Given the description of an element on the screen output the (x, y) to click on. 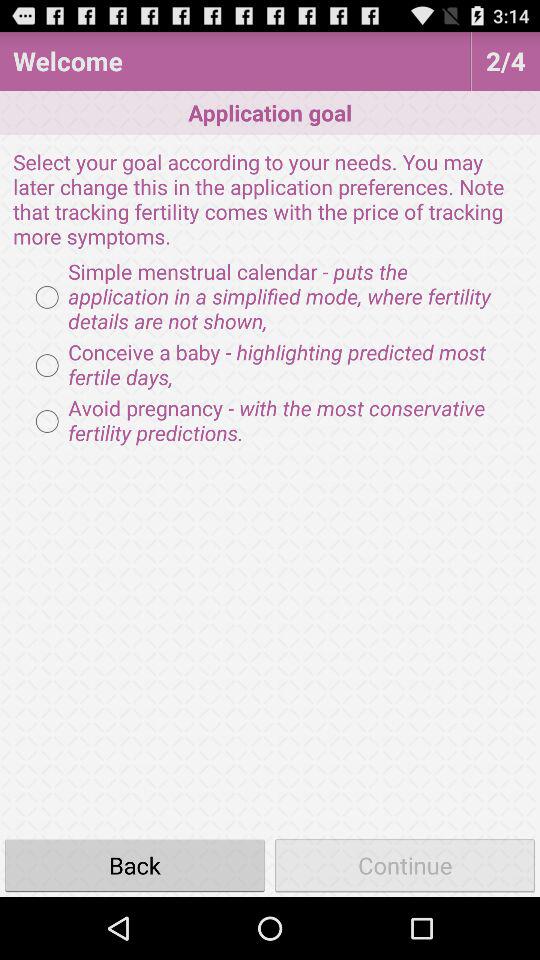
choose the item above the back (269, 421)
